Given the description of an element on the screen output the (x, y) to click on. 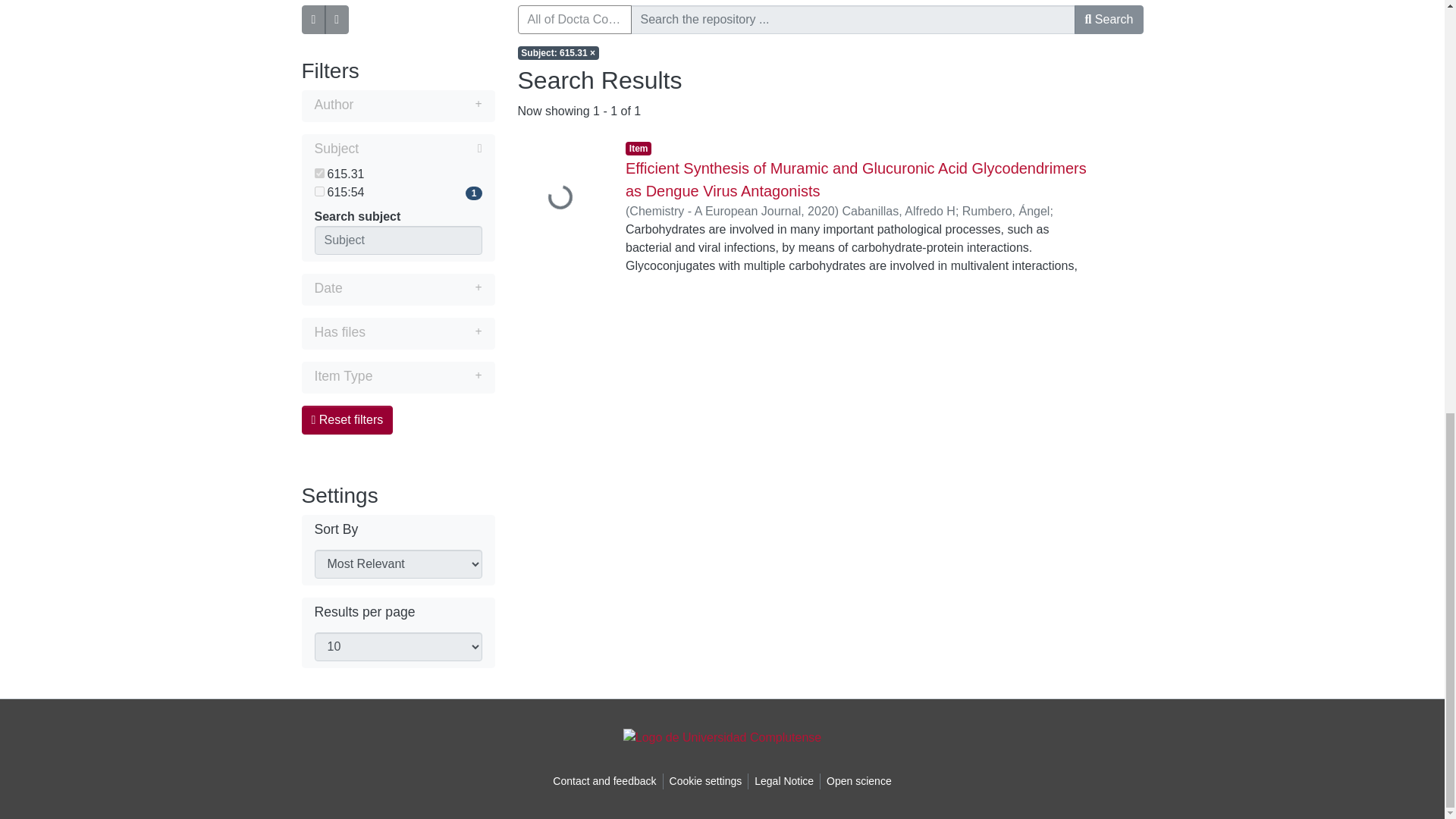
Author (397, 106)
Expand filter (417, 104)
Expand filter (411, 288)
on (318, 173)
Expand filter (426, 375)
Collapse filter (419, 148)
on (318, 191)
Expand filter (423, 331)
